Given the description of an element on the screen output the (x, y) to click on. 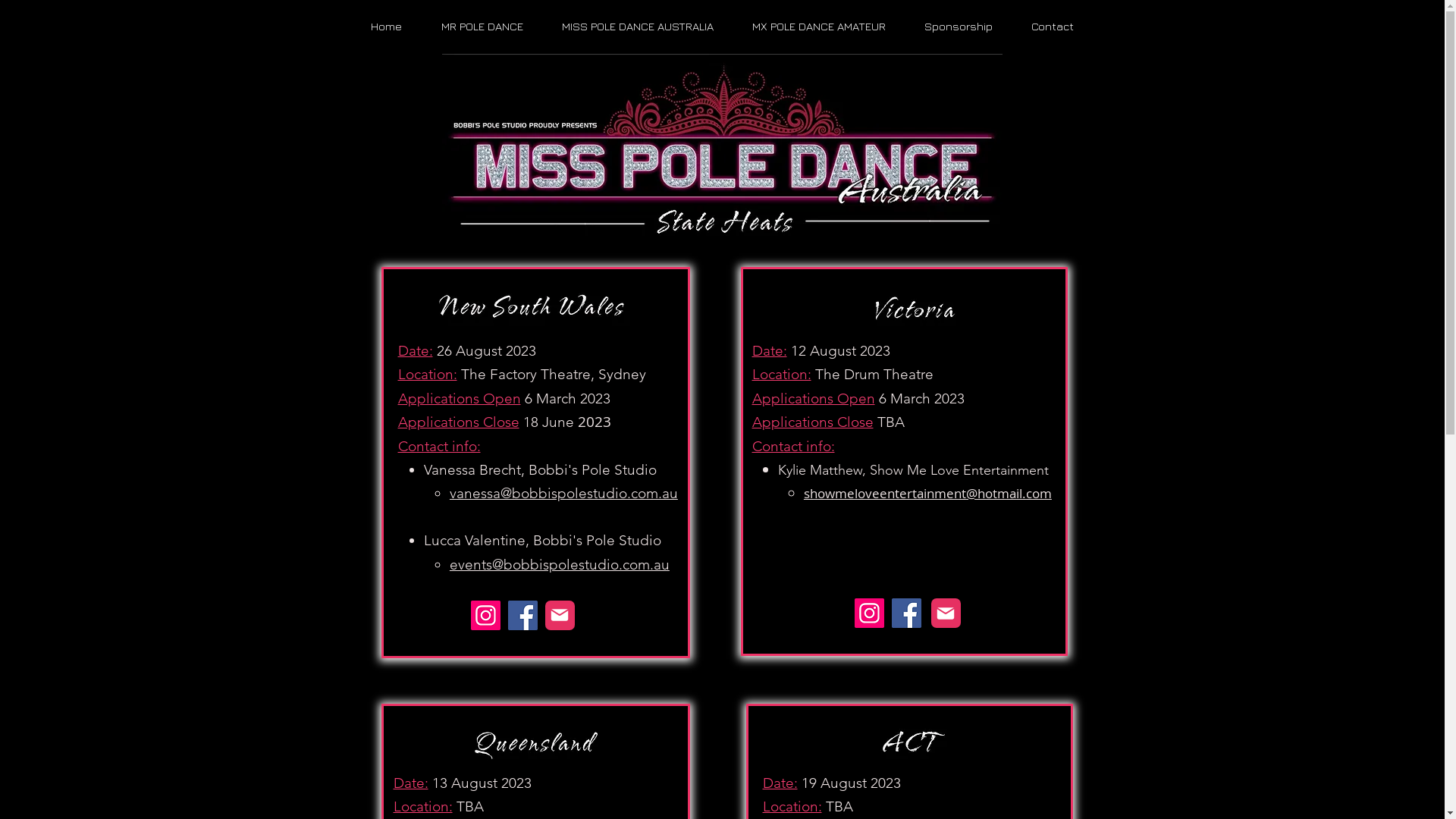
Home Element type: text (385, 26)
events@bobbispolestudio.com.au Element type: text (559, 564)
showmeloveentertainment@hotmail.com Element type: text (927, 492)
vanessa@bobbispolestudio.com.au Element type: text (563, 493)
MX POLE DANCE AMATEUR Element type: text (818, 26)
Sponsorship Element type: text (958, 26)
MISS POLE DANCE AUSTRALIA Element type: text (637, 26)
MR POLE DANCE Element type: text (481, 26)
Contact Element type: text (1051, 26)
